Given the description of an element on the screen output the (x, y) to click on. 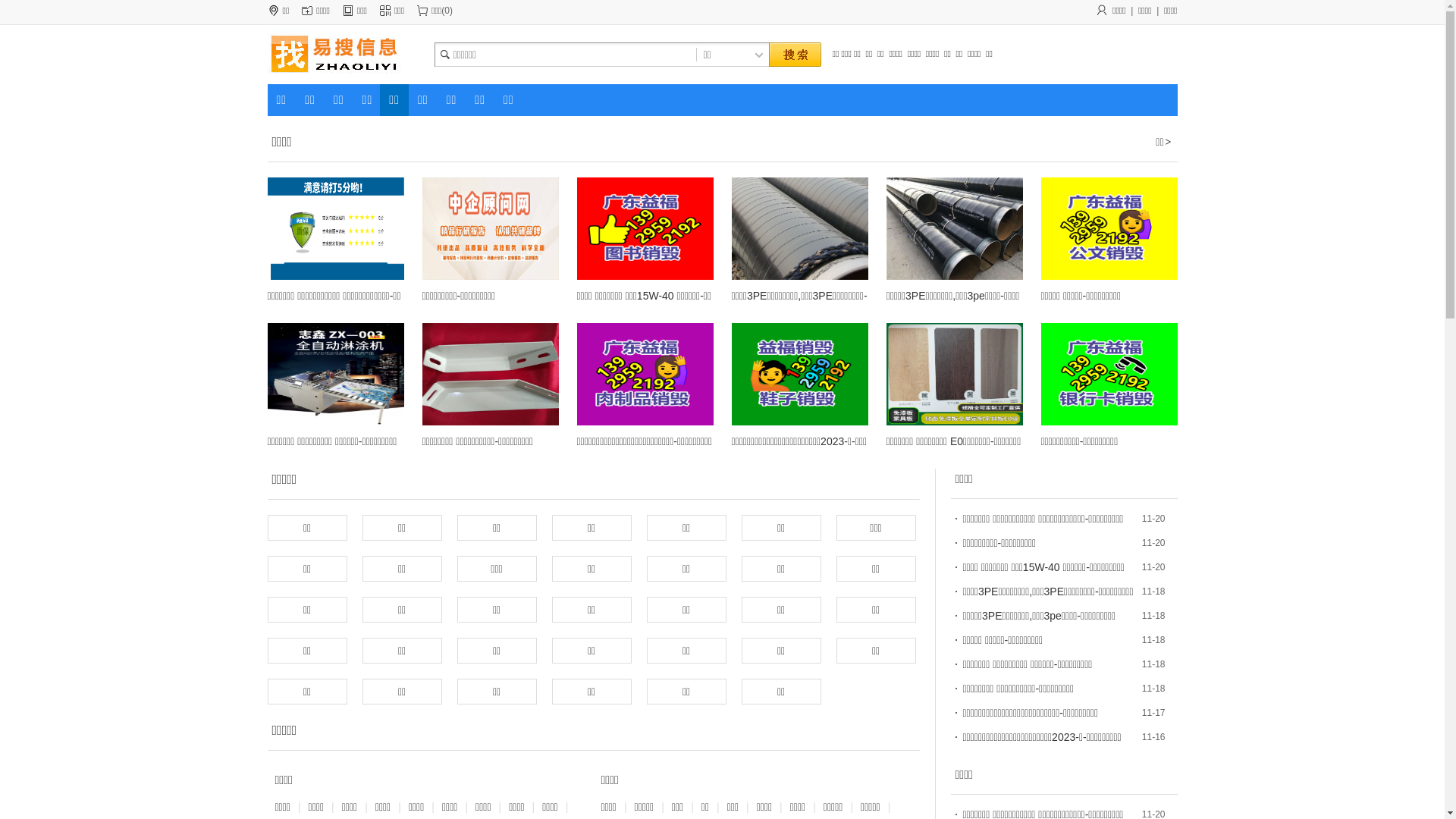
  Element type: text (793, 54)
